Given the description of an element on the screen output the (x, y) to click on. 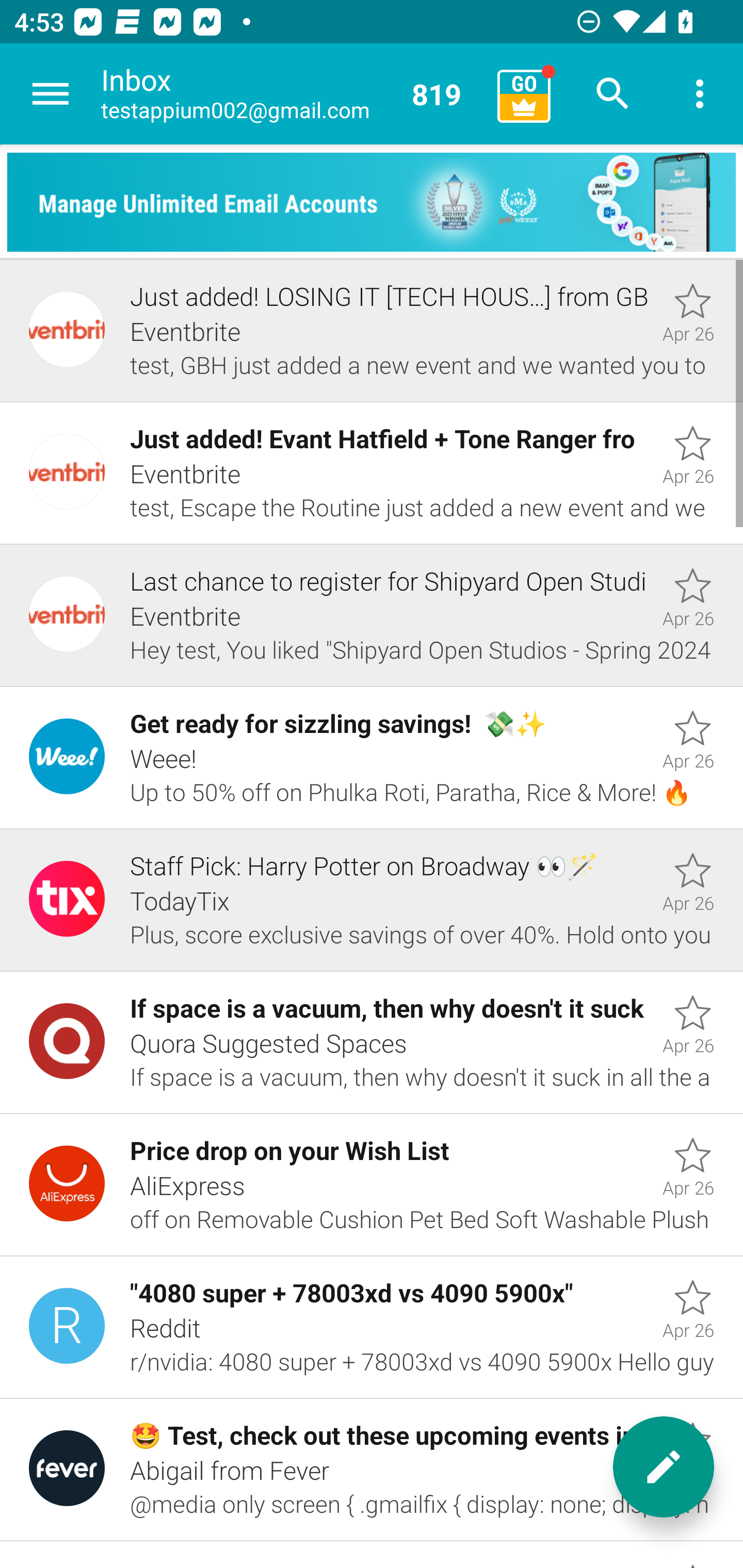
Navigate up (50, 93)
Inbox testappium002@gmail.com 819 (291, 93)
Search (612, 93)
More options (699, 93)
New message (663, 1466)
